Given the description of an element on the screen output the (x, y) to click on. 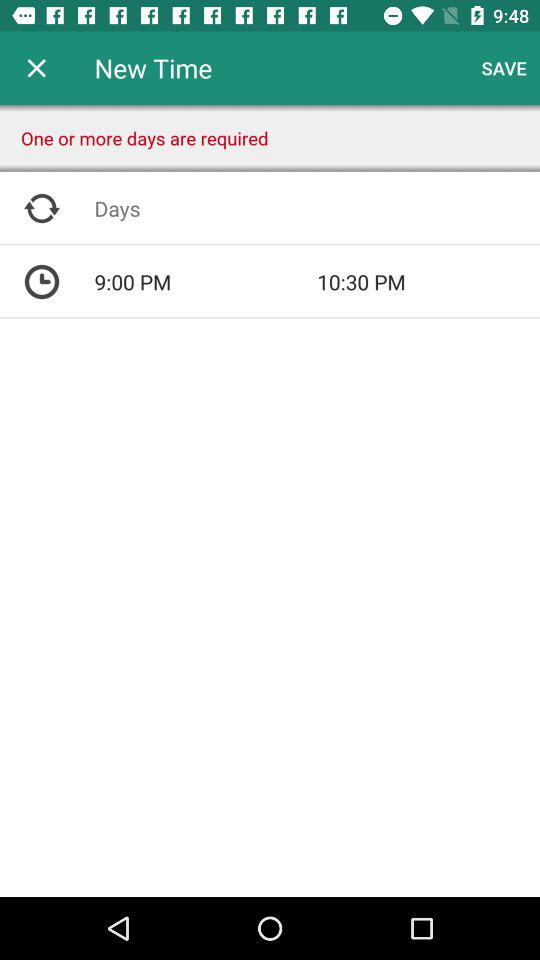
swipe to 10:30 pm (428, 281)
